Given the description of an element on the screen output the (x, y) to click on. 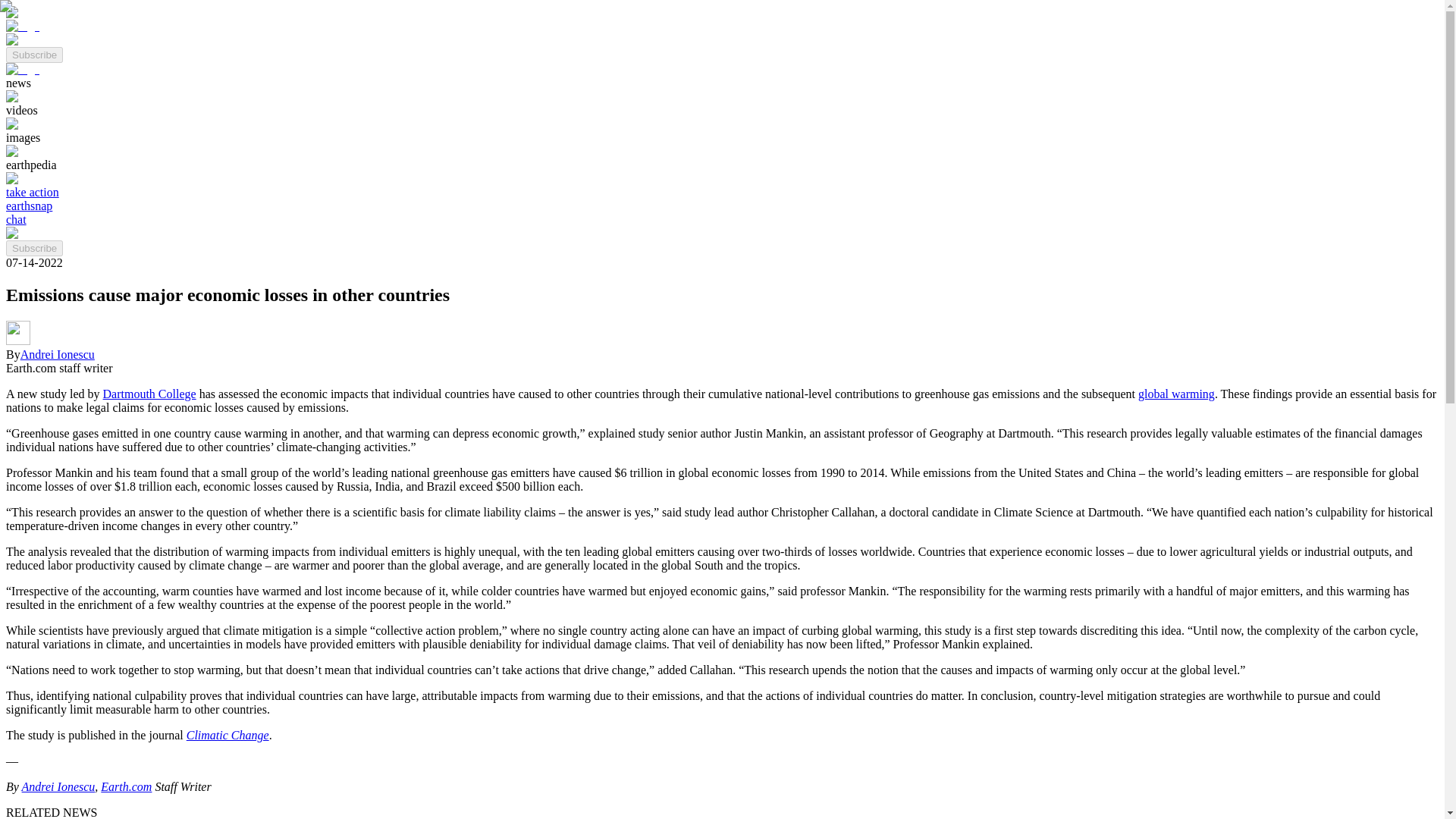
earthsnap (28, 205)
Subscribe (33, 248)
take action (32, 192)
Climatic Change (227, 735)
chat (15, 219)
Subscribe (33, 53)
Subscribe (33, 54)
global warming (1176, 393)
Andrei Ionescu (57, 354)
Earth.com (125, 786)
